Given the description of an element on the screen output the (x, y) to click on. 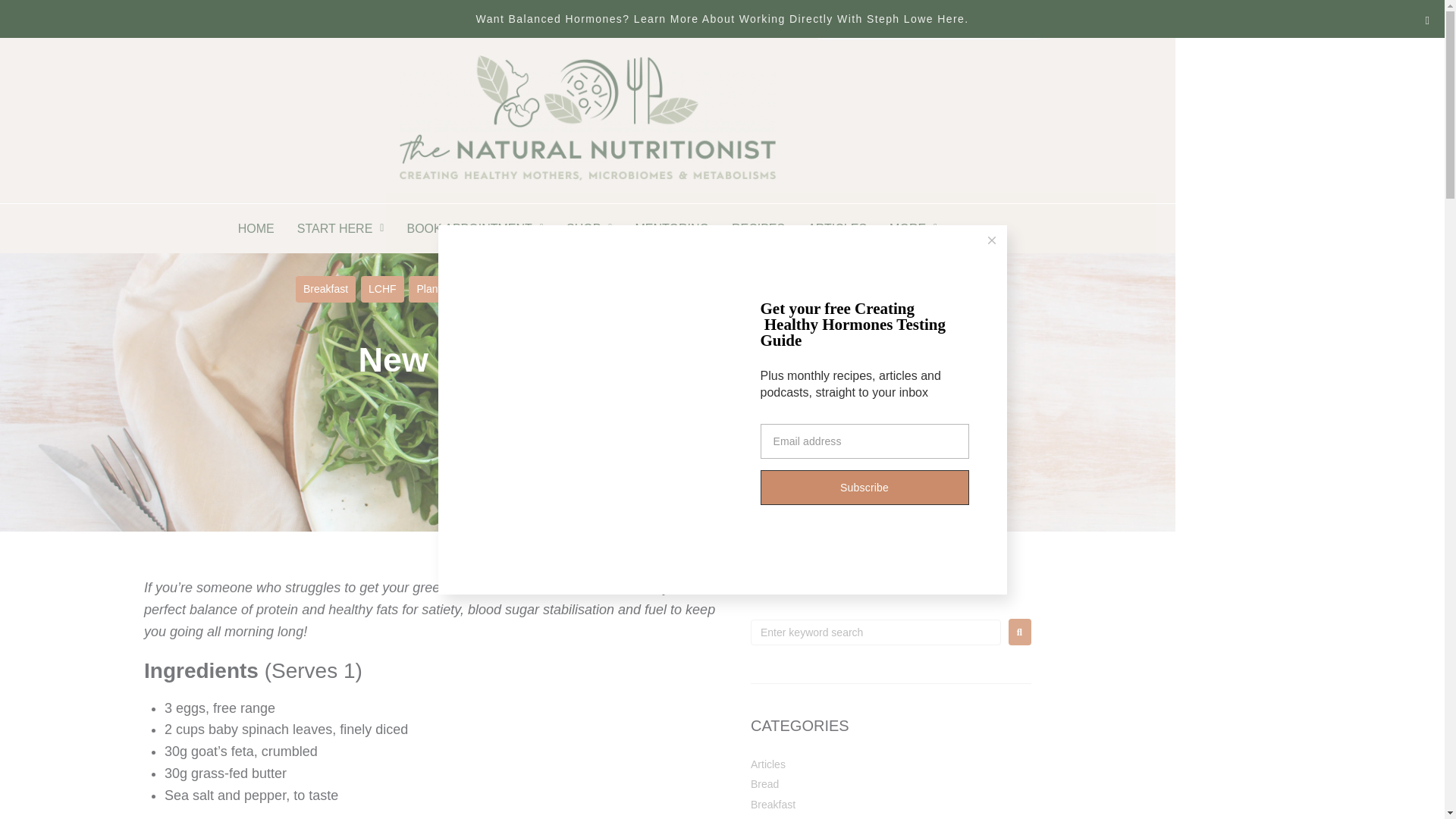
MENTORING (671, 228)
Breakfast (325, 289)
START HERE (340, 228)
Plant-based (444, 289)
LCHF (382, 289)
MORE (913, 228)
ARTICLES (836, 228)
RECIPES (758, 228)
BOOK APPOINTMENT (474, 228)
HOME (256, 228)
SHOP (588, 228)
TWR (564, 289)
Recipes (513, 289)
